Given the description of an element on the screen output the (x, y) to click on. 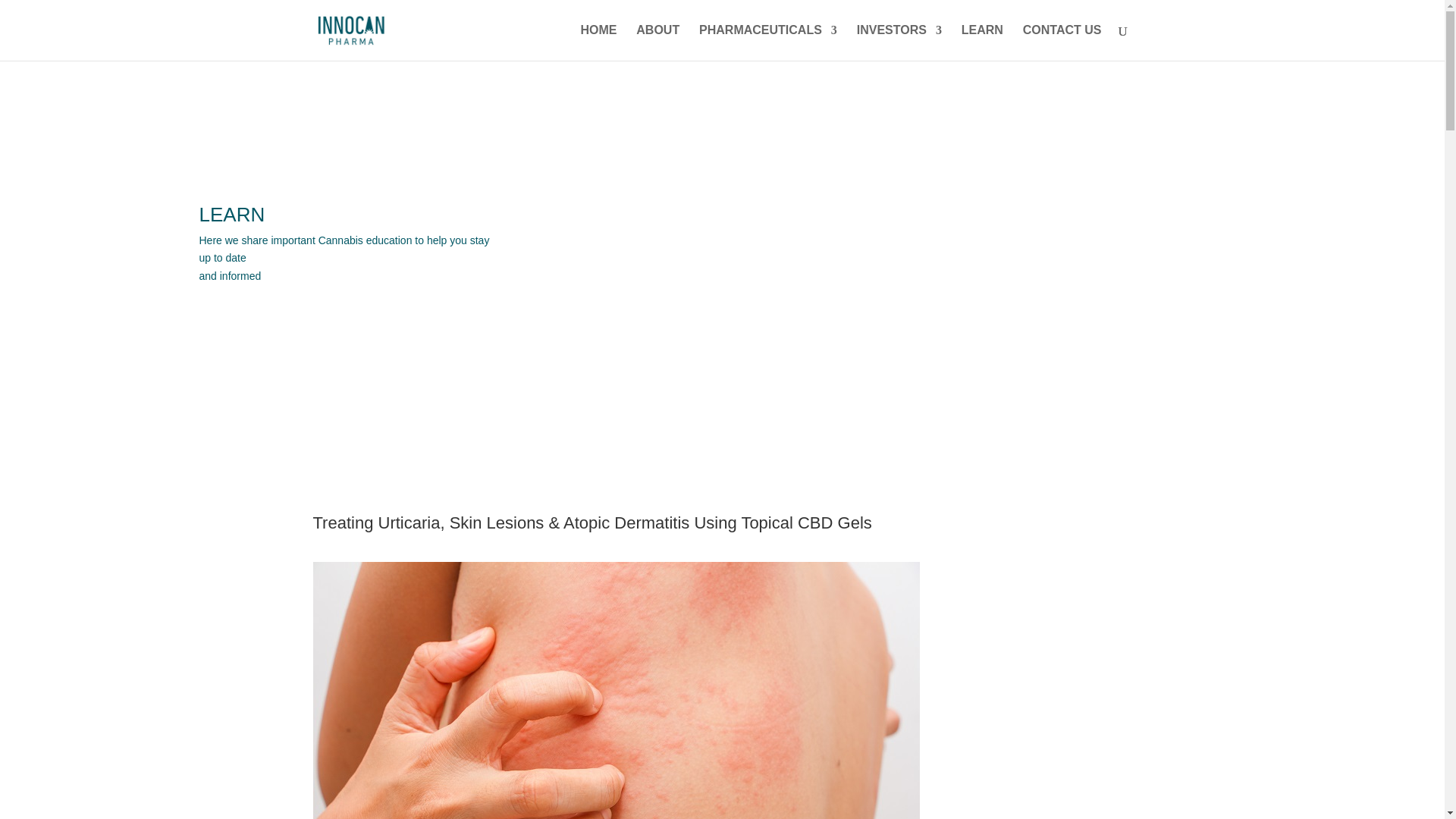
PHARMACEUTICALS (767, 42)
CONTACT US (1062, 42)
HOME (597, 42)
ABOUT (657, 42)
LEARN (981, 42)
INVESTORS (899, 42)
